Given the description of an element on the screen output the (x, y) to click on. 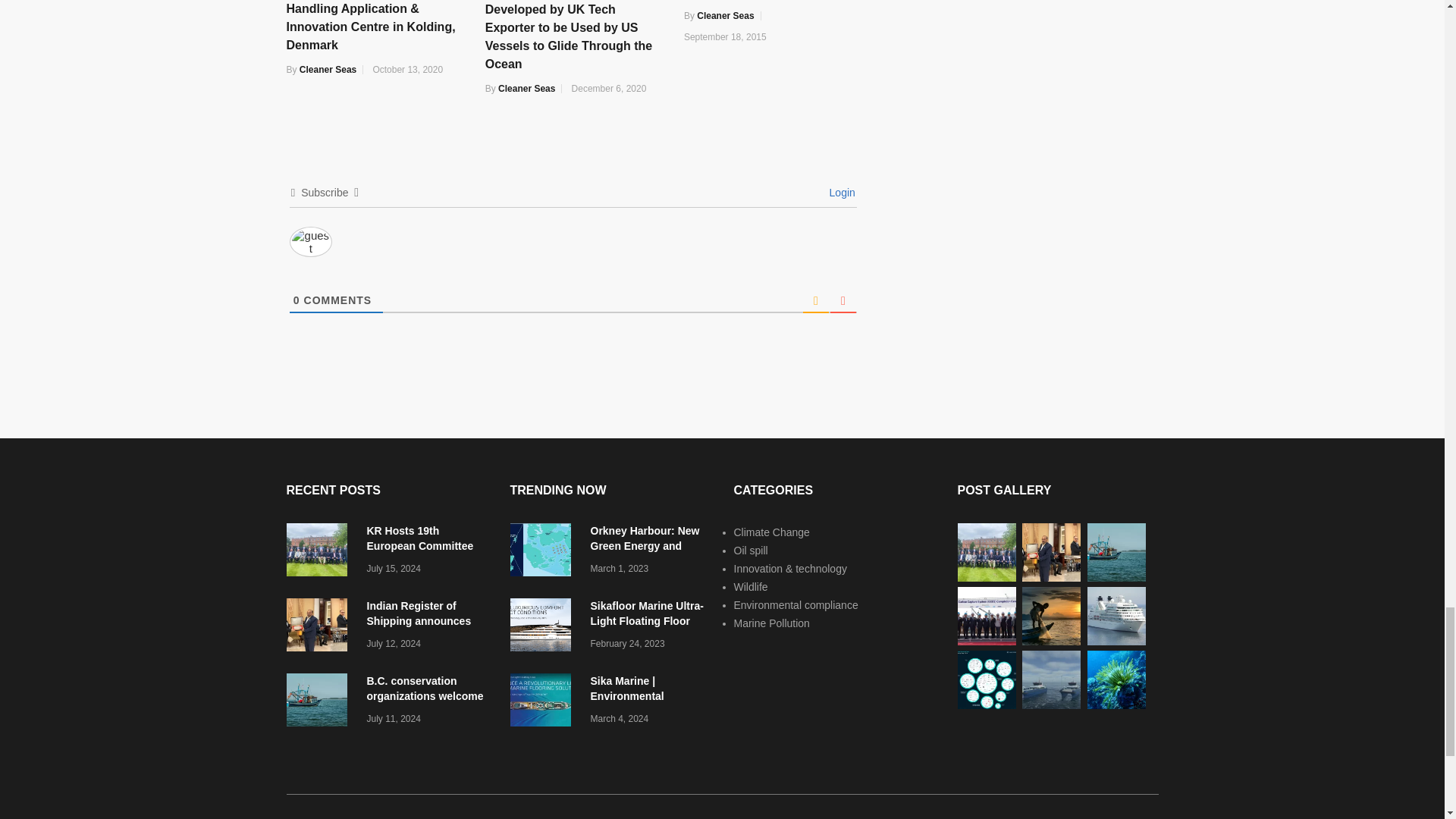
Posts by Cleaner Seas (725, 15)
Posts by Cleaner Seas (327, 69)
Posts by Cleaner Seas (525, 88)
